Given the description of an element on the screen output the (x, y) to click on. 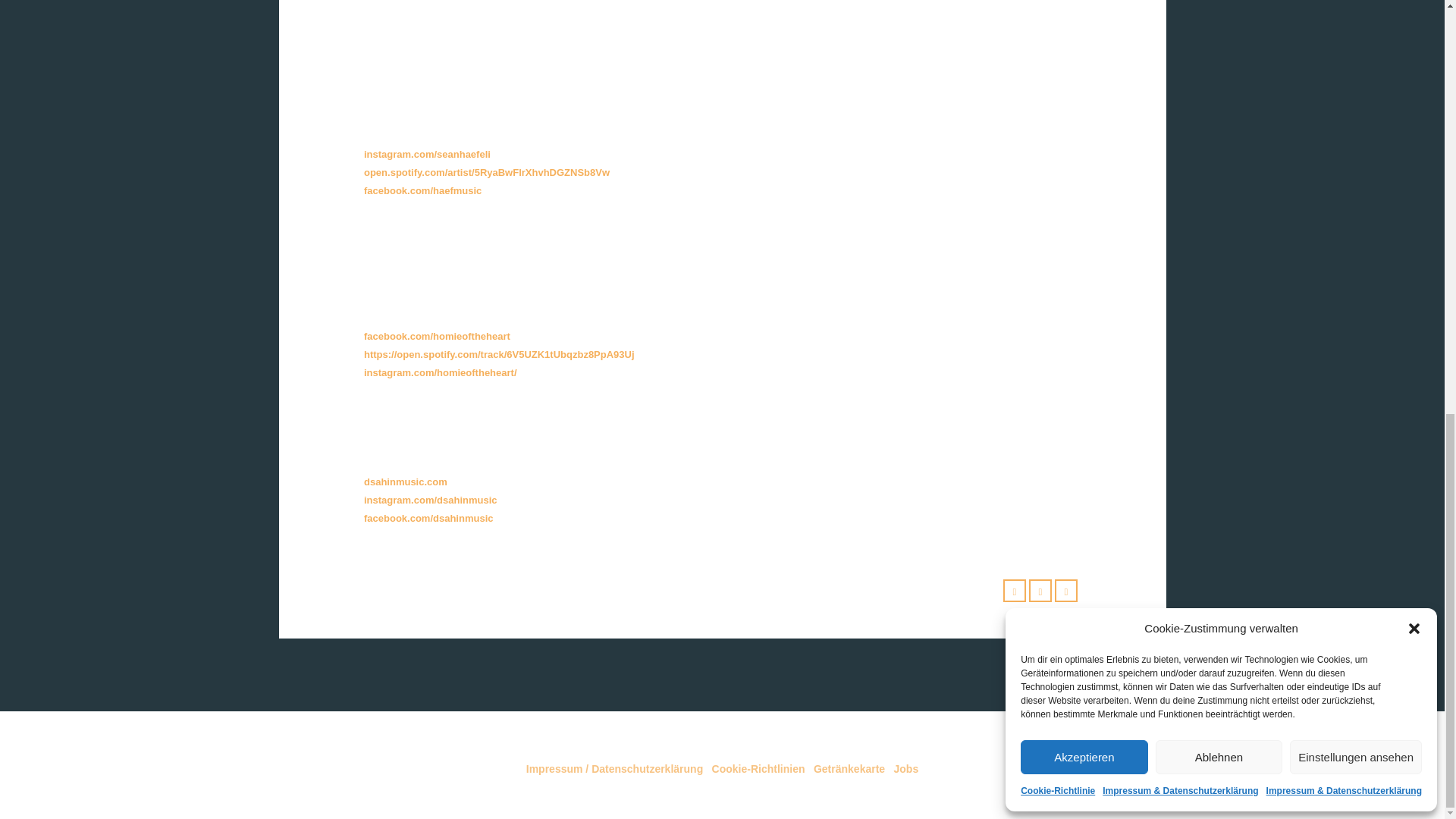
dsahinmusic.com (405, 481)
